Given the description of an element on the screen output the (x, y) to click on. 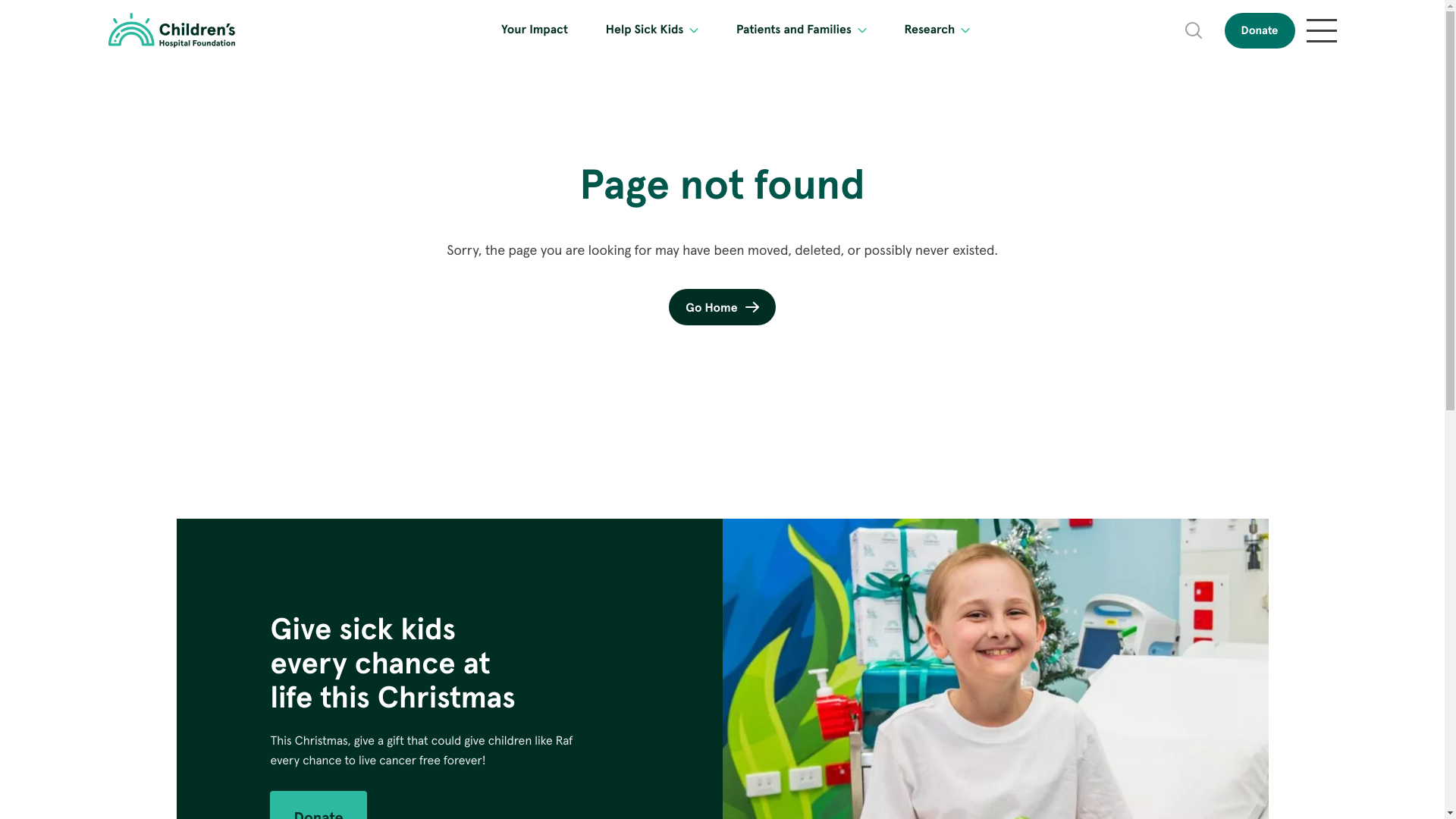
Expand Secondary Menu Element type: text (1320, 30)
Your Impact Element type: text (534, 29)
Go Home Element type: text (721, 306)
Research Element type: text (928, 29)
Patients and Families Element type: text (793, 29)
Expand Search Element type: text (1193, 29)
Skip to Navigation Element type: text (6, 6)
Donate Element type: text (1259, 29)
Expand submenu: Research Element type: text (964, 30)
Children's Hospital Foundation Element type: text (170, 30)
Expand submenu: Help Sick Kids Element type: text (693, 30)
Expand submenu: Patients and Families Element type: text (861, 30)
Help Sick Kids Element type: text (644, 29)
